Given the description of an element on the screen output the (x, y) to click on. 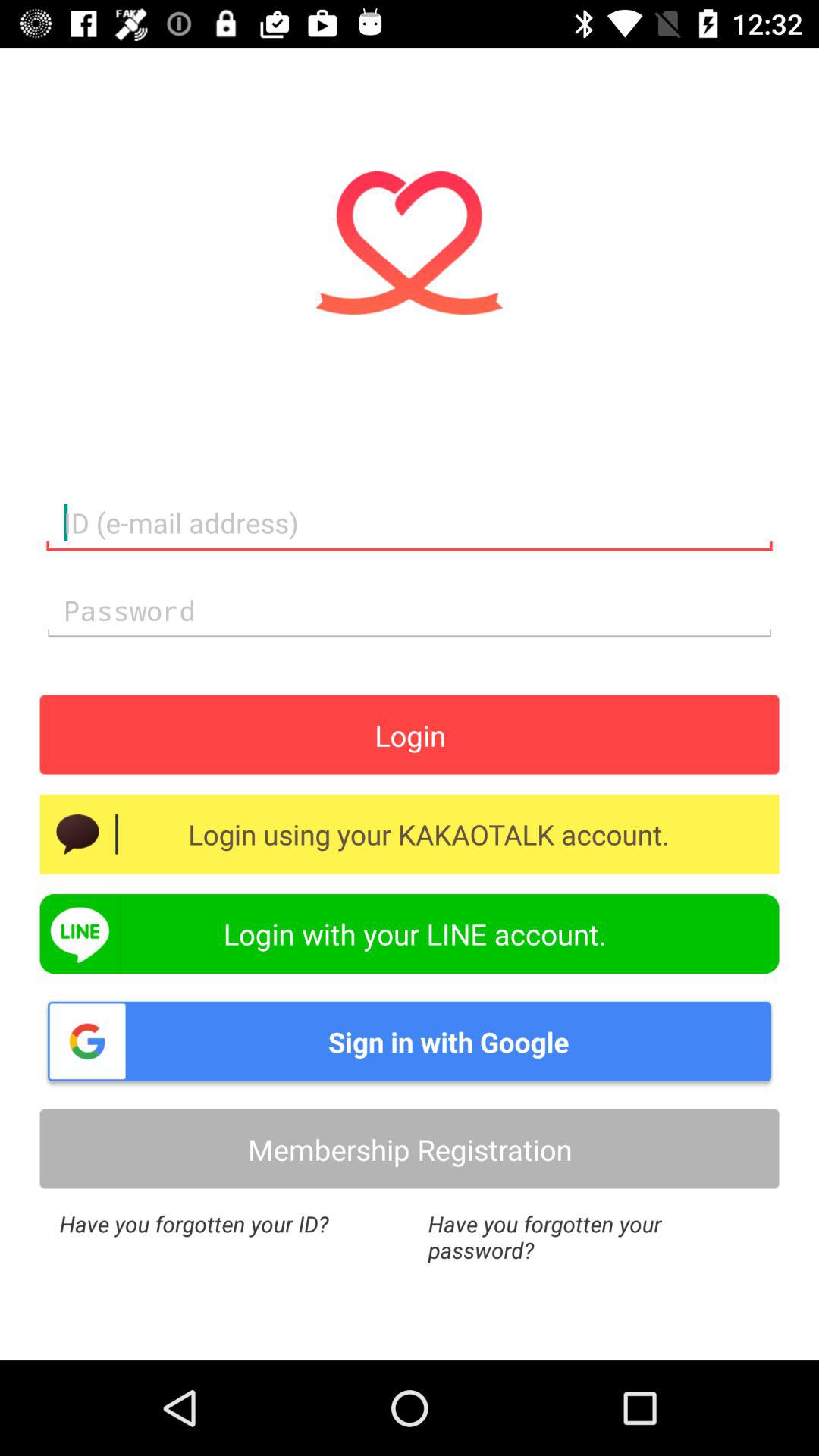
enter email address (409, 523)
